Given the description of an element on the screen output the (x, y) to click on. 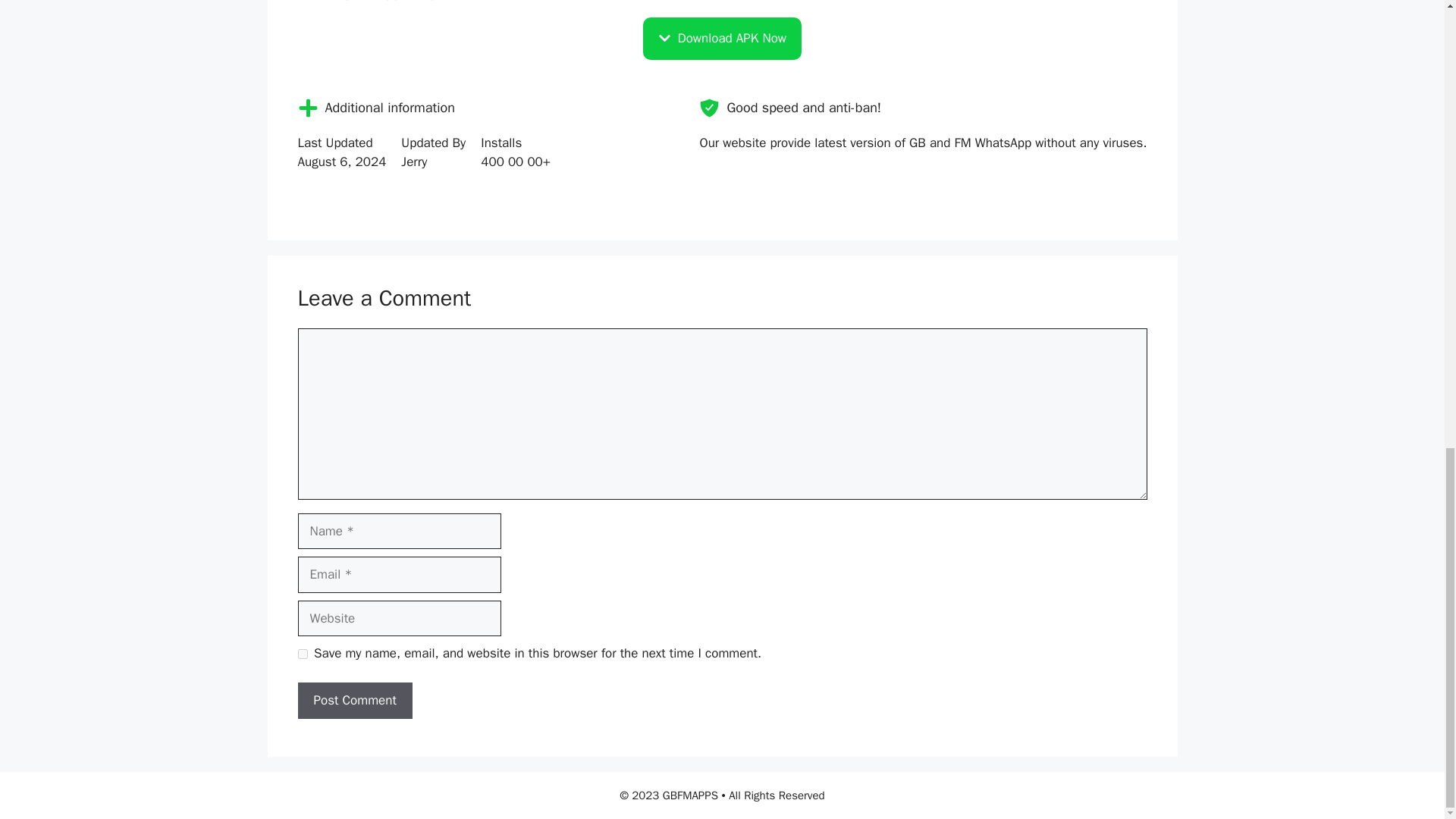
ionicons-v5-s (708, 107)
FULL DESCRIPTION (722, 9)
Post Comment (354, 700)
yes (302, 654)
Post Comment (354, 700)
Download APK Now (722, 38)
